Given the description of an element on the screen output the (x, y) to click on. 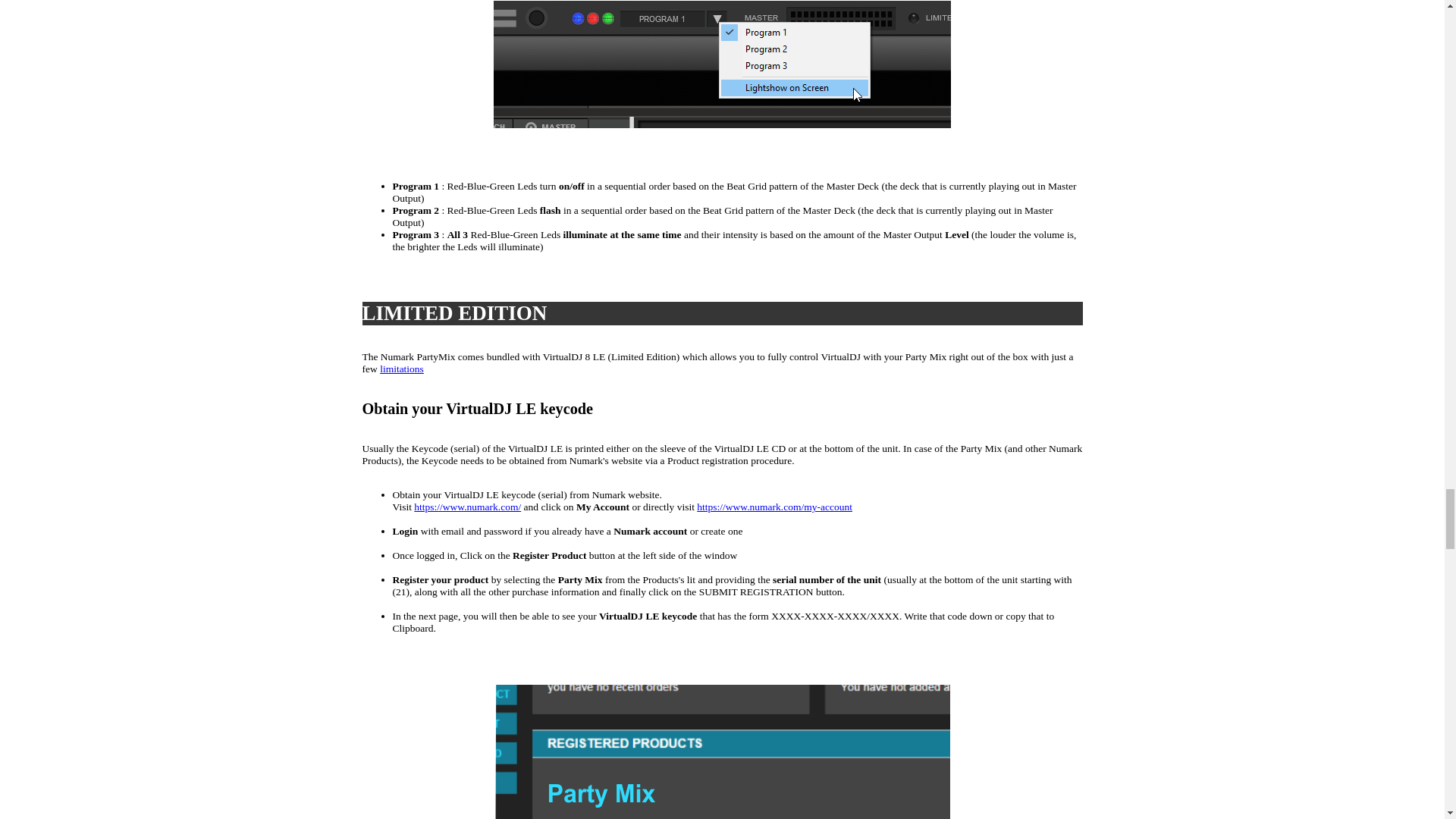
limitations (401, 368)
